Given the description of an element on the screen output the (x, y) to click on. 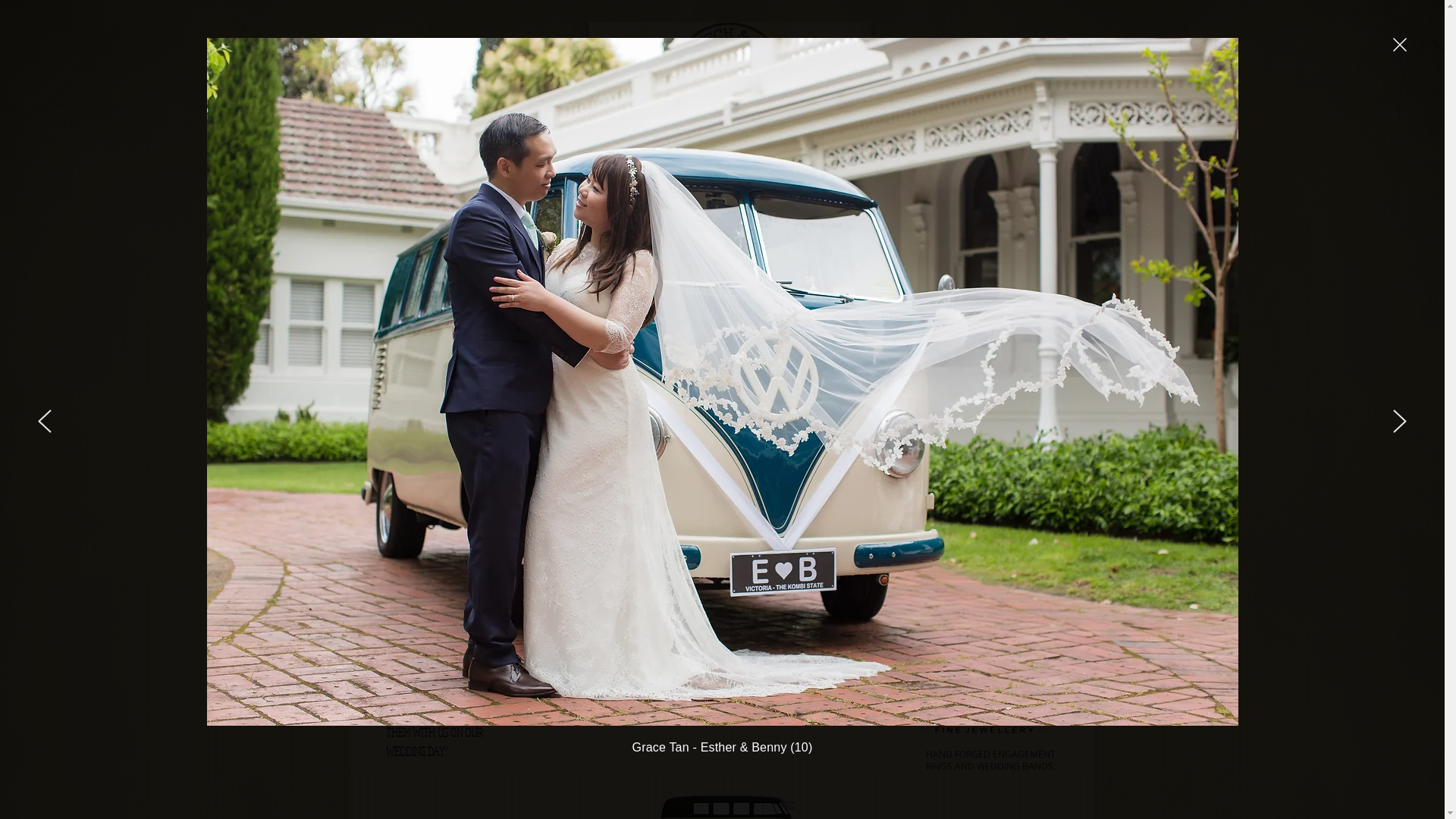
CONTACT Element type: text (1058, 203)
TESTIMONIALS Element type: text (910, 203)
Wedding Car Hire Element type: text (728, 170)
GALLERY Element type: text (680, 203)
REAL WEDDINGS & EVENTS Element type: text (562, 203)
Kombi and Wedding Car and Prop Hire Melbourne Victoria Element type: hover (982, 704)
image1.PNG Element type: hover (724, 350)
External YouTube Element type: hover (724, 649)
Kombi and Wedding Car and Prop Hire Melbourne Victoria Element type: hover (990, 652)
ABOUT Element type: text (991, 203)
KOMBI & BEETLE Element type: text (728, 149)
Kombi and Wedding Car and Prop Hire Melbourne Victoria Element type: hover (1042, 574)
Kombi and Wedding Car and Prop Hire Melbourne Victoria Element type: hover (1008, 454)
SERVICES Element type: text (820, 203)
Kombi and Wedding Car and Prop Hire Melbourne Victoria Element type: hover (733, 85)
Kombi and Wedding Car and Prop Hire Melbourne Victoria Element type: hover (497, 510)
VIDEOS Element type: text (750, 203)
HOME Element type: text (377, 203)
OUR VW'S Element type: text (443, 203)
